Given the description of an element on the screen output the (x, y) to click on. 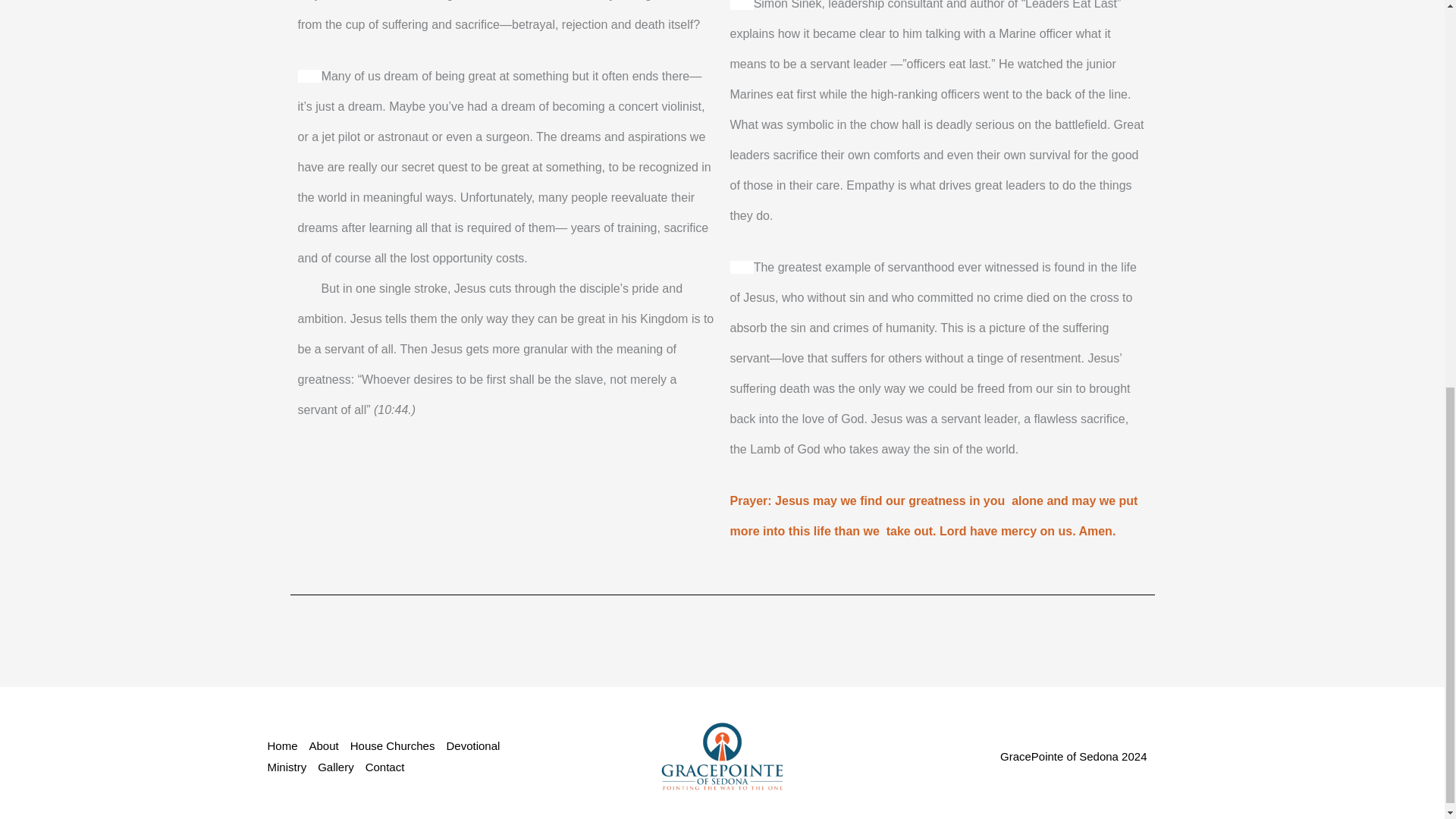
Ministry (291, 767)
House Churches (398, 745)
Devotional (478, 745)
Contact (390, 767)
Home (287, 745)
Gallery (341, 767)
About (329, 745)
